Given the description of an element on the screen output the (x, y) to click on. 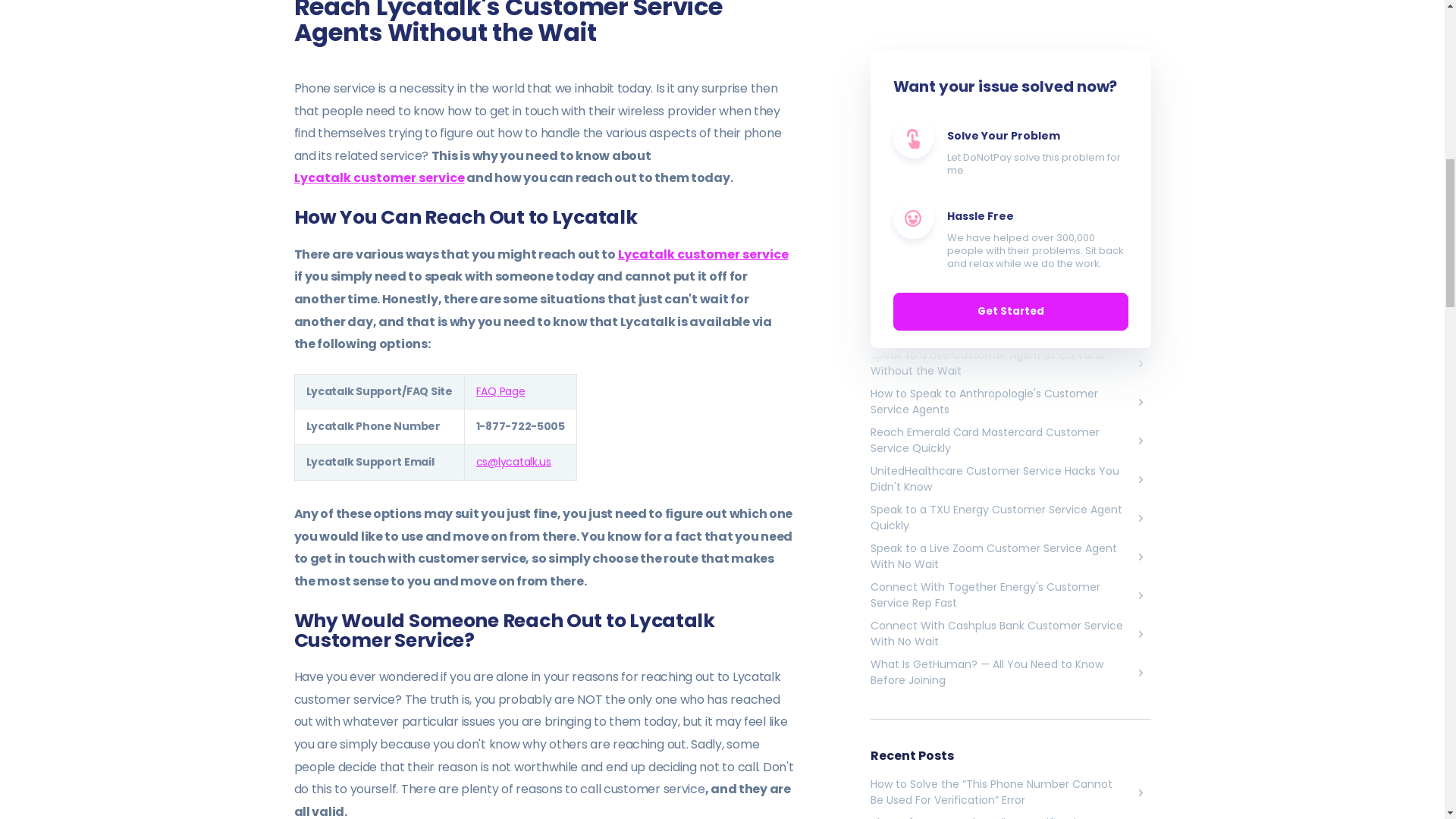
Lycatalk customer service (703, 253)
FAQ Page (500, 391)
Lycatalk customer service (379, 177)
